Given the description of an element on the screen output the (x, y) to click on. 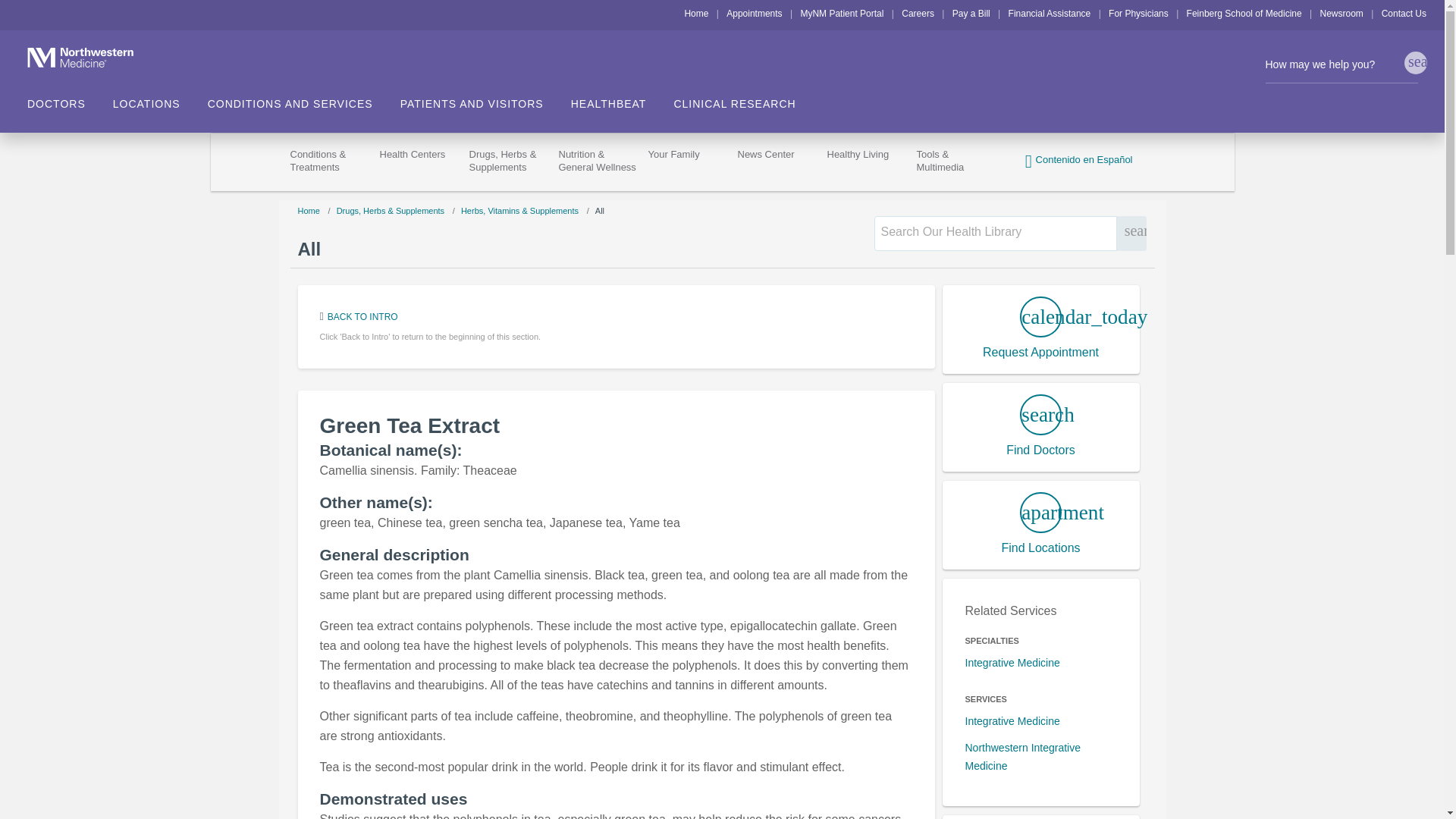
Pay a Bill (971, 13)
Skip to content (34, 9)
Locations (160, 99)
Home (695, 13)
MyNM Patient Portal - opens in a new window (841, 13)
MyNM Patient Portal (841, 13)
For Physicians (1138, 13)
Northwestern Medicine (71, 57)
Skip to content (34, 9)
Careers (917, 13)
Financial Assistance (1049, 13)
Home (695, 13)
Newsroom (1340, 13)
DOCTORS (70, 99)
Doctors (70, 99)
